Given the description of an element on the screen output the (x, y) to click on. 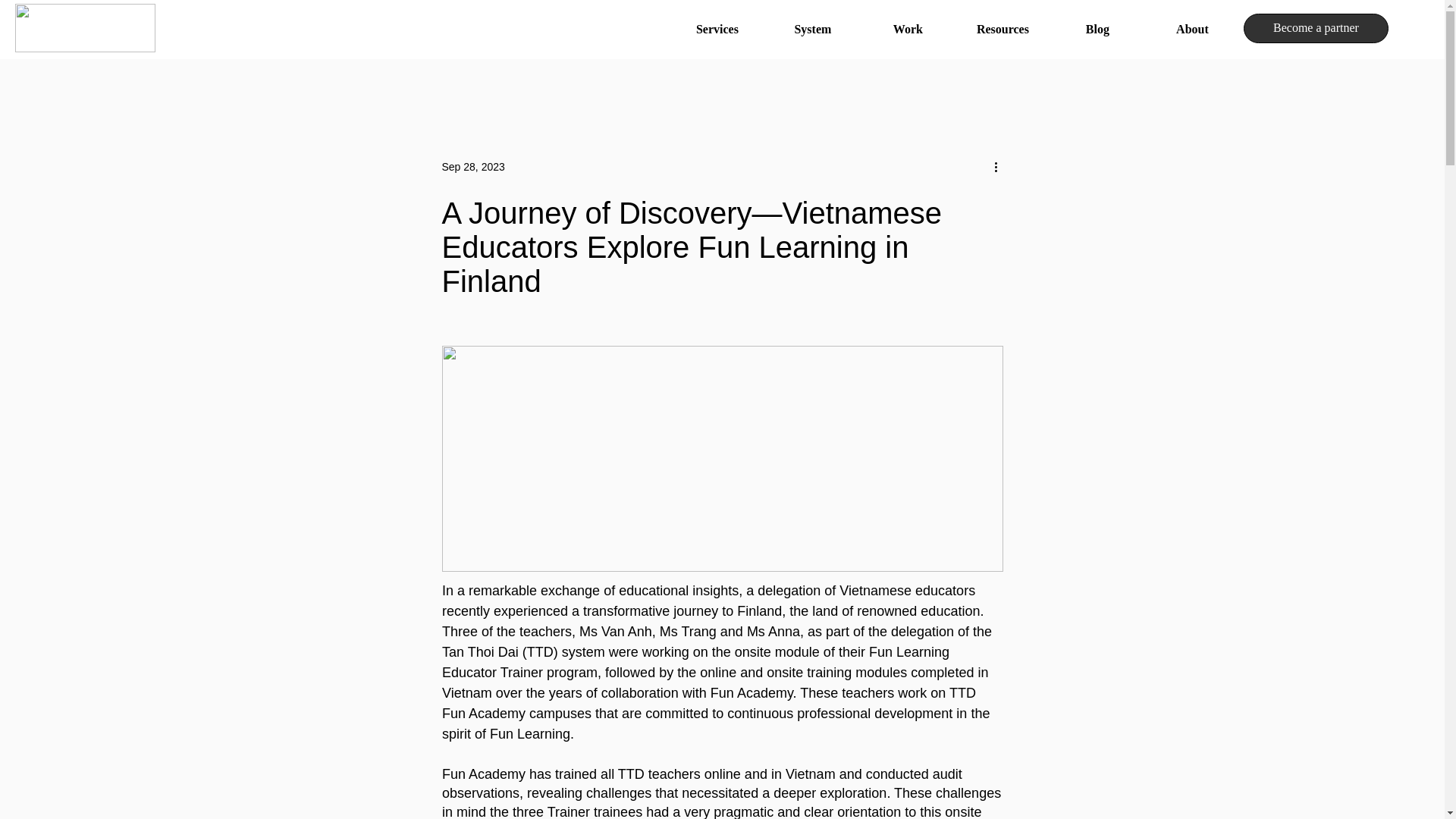
Blog (1096, 29)
Resources (1002, 29)
Services (717, 29)
About (1192, 29)
System (812, 29)
Sep 28, 2023 (472, 166)
Work (907, 29)
Become a partner (1316, 28)
